Given the description of an element on the screen output the (x, y) to click on. 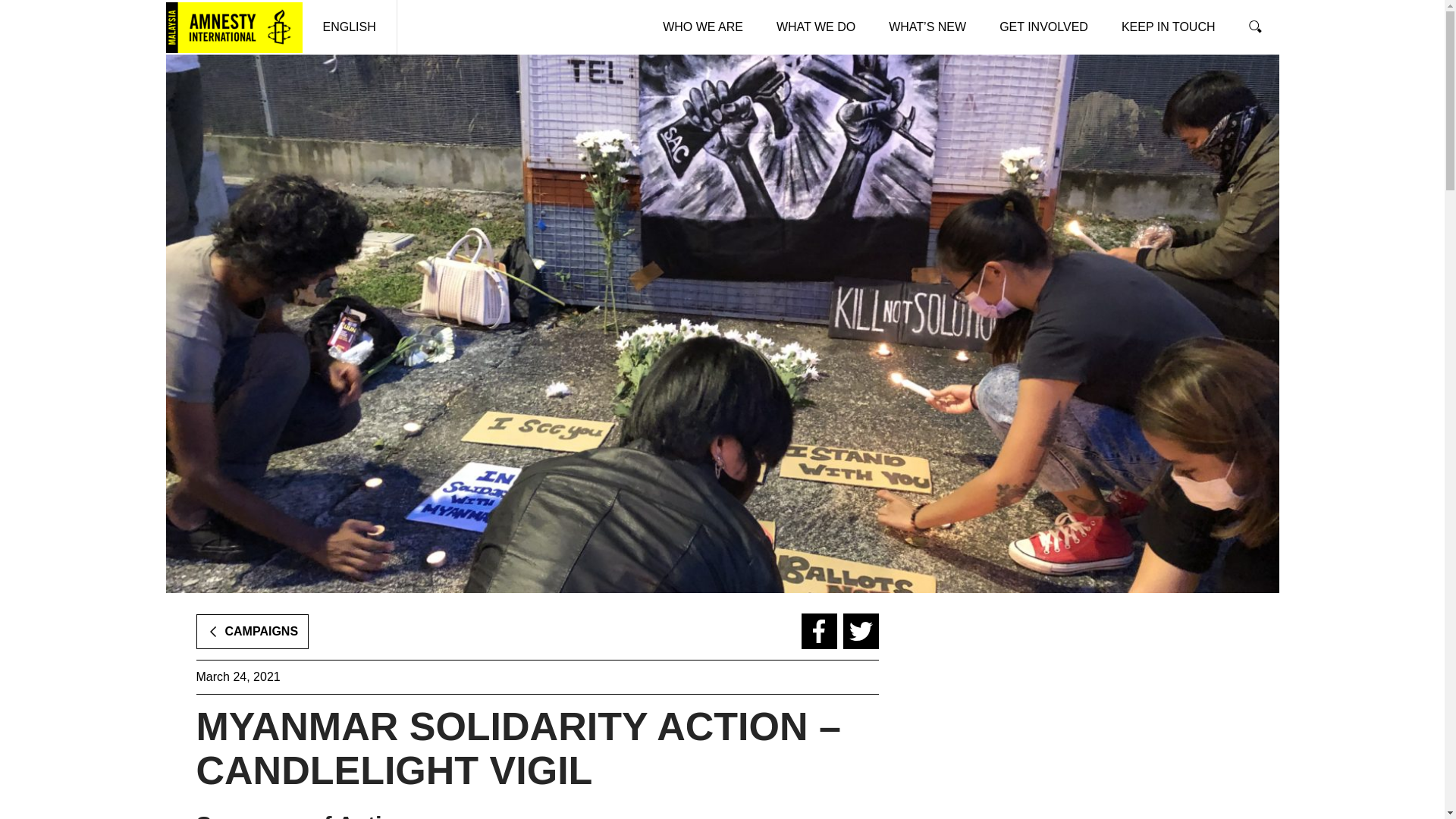
WHAT WE DO (816, 27)
GET INVOLVED (1043, 27)
KEEP IN TOUCH (1168, 27)
WHO WE ARE (703, 27)
